Given the description of an element on the screen output the (x, y) to click on. 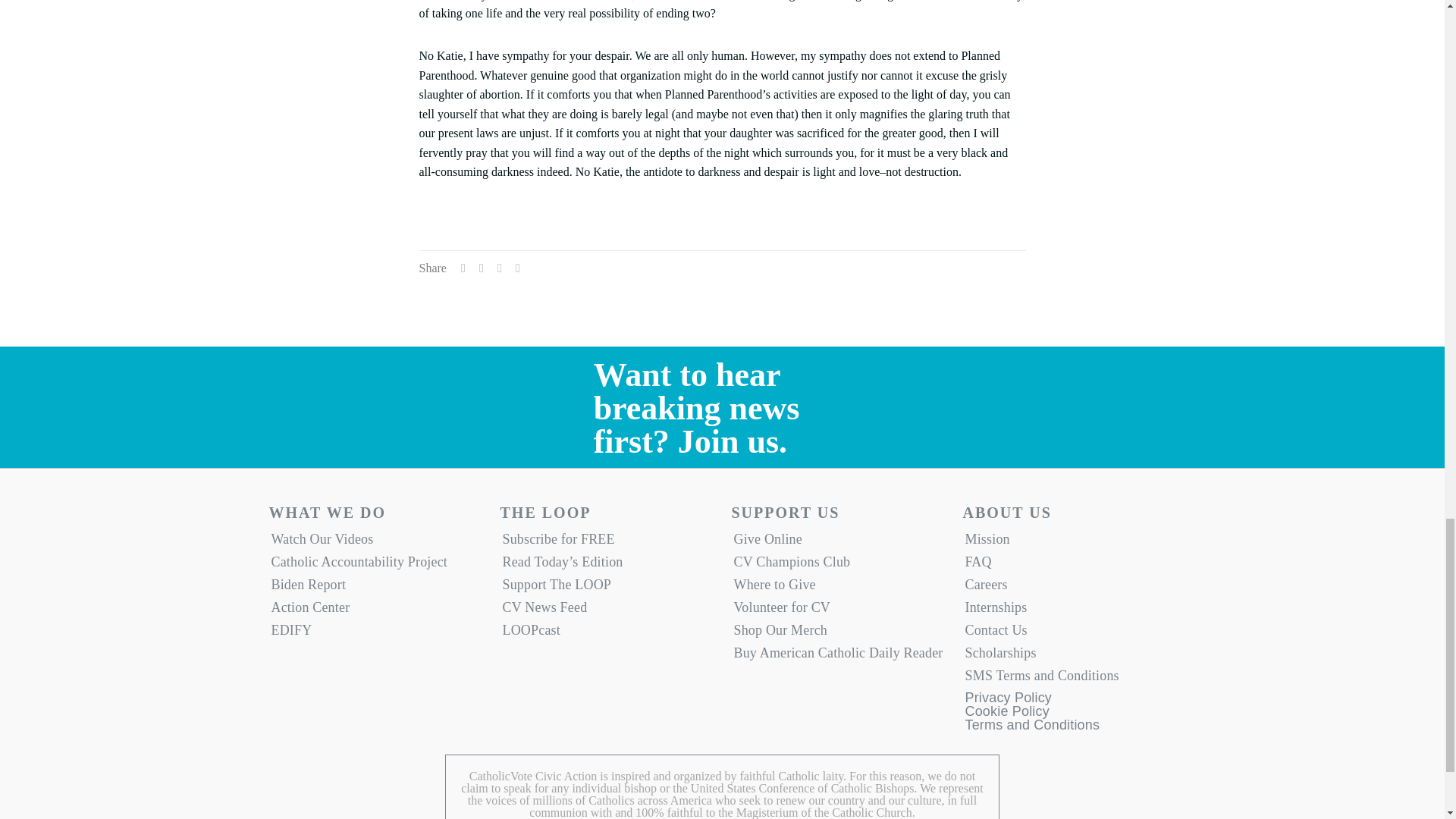
Terms and Conditions  (1031, 728)
Volunteer for CV (836, 610)
Privacy Policy  (1007, 701)
Cookie Policy  (1005, 714)
Catholic Accountability Project (374, 565)
Support The LOOP (606, 588)
Where to Give (836, 588)
CV News Feed (606, 610)
Watch Our Videos (374, 542)
EDIFY (374, 633)
